Given the description of an element on the screen output the (x, y) to click on. 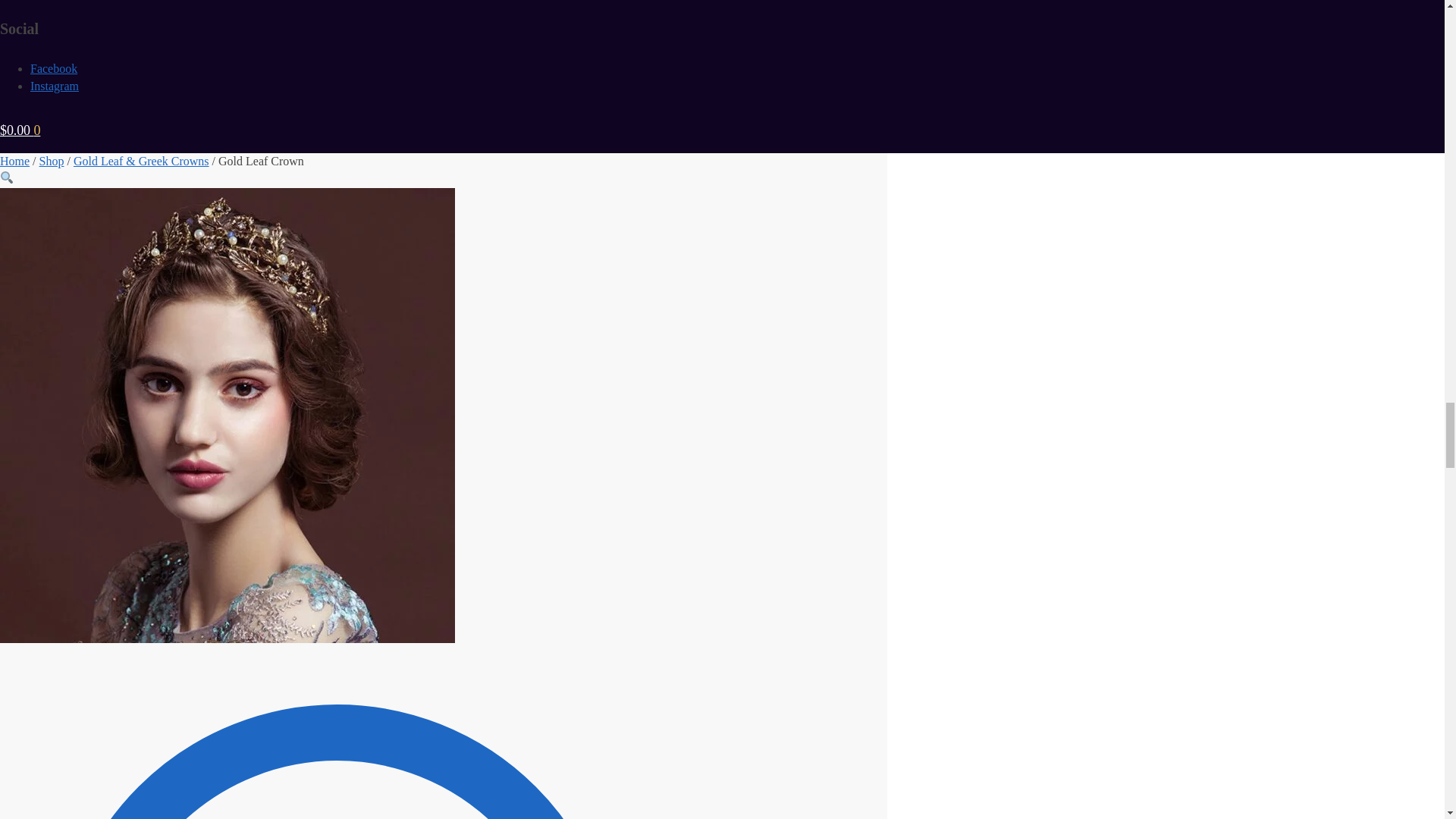
View your shopping cart (20, 130)
Facebook (53, 68)
Home (14, 160)
Shop (51, 160)
Instagram (54, 85)
